Given the description of an element on the screen output the (x, y) to click on. 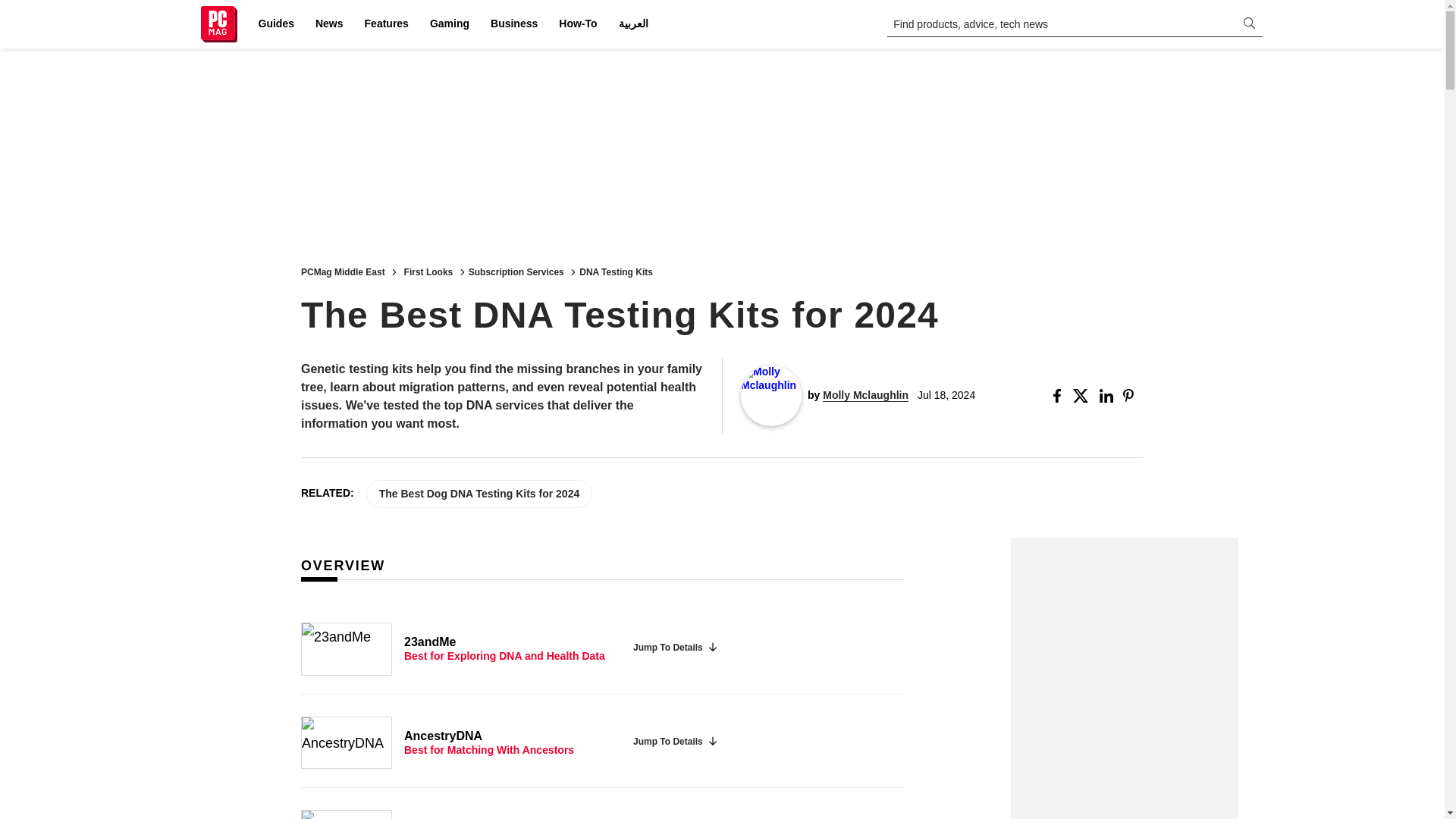
Jump To Details (675, 648)
First Looks (428, 270)
Share this Story on Pinterest (1132, 395)
Business (513, 24)
DNA Testing Kits (615, 270)
Jump To Details (675, 742)
Share this Story on Linkedin (1107, 395)
Share this Story on Facebook (1059, 395)
PCMag Middle East (343, 270)
Subscription Services (516, 270)
